Given the description of an element on the screen output the (x, y) to click on. 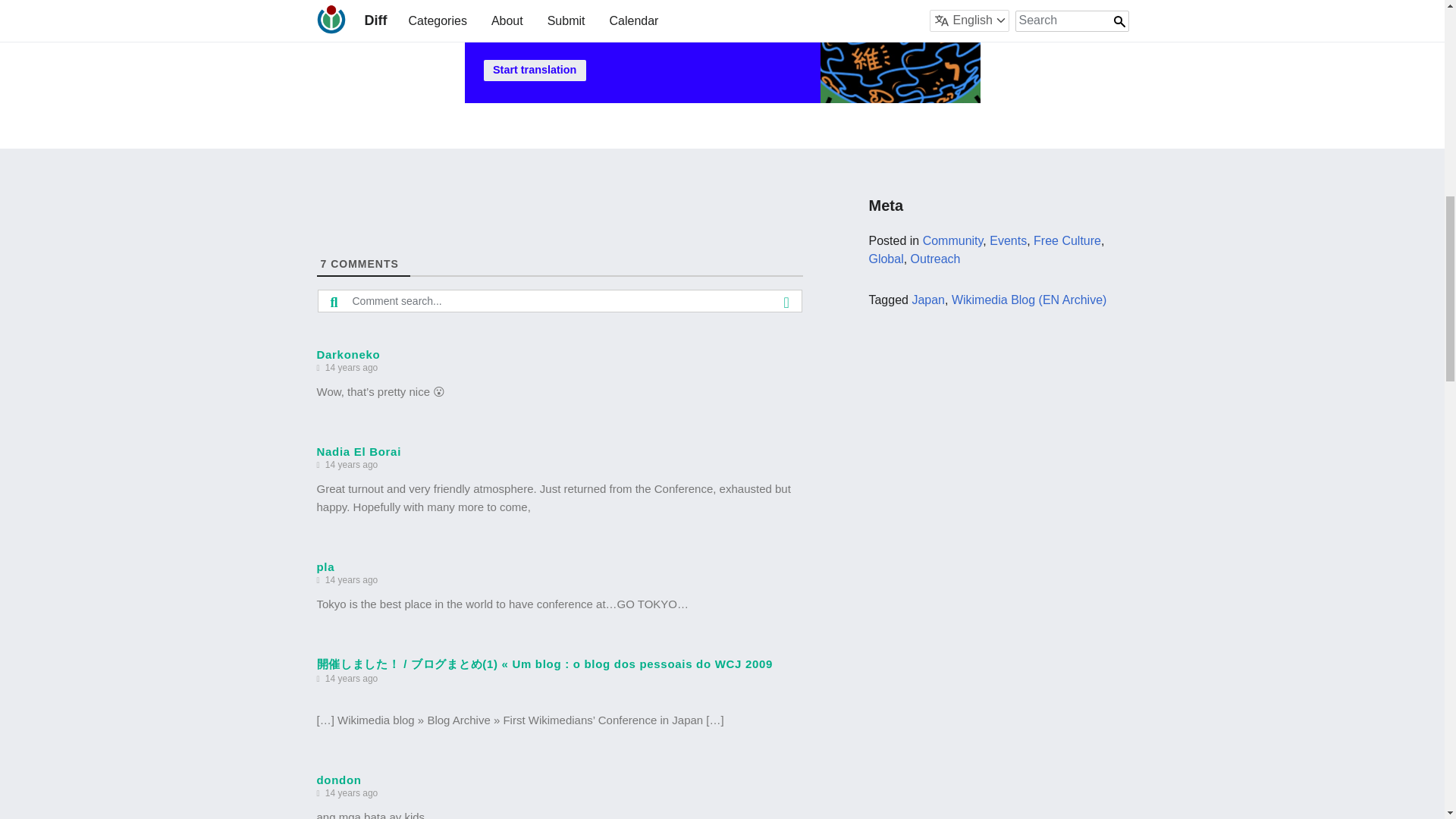
Free Culture (1066, 240)
Outreach (935, 258)
22 November 2009 15:45 (351, 368)
Japan (927, 299)
Events (1008, 240)
23 November 2009 05:30 (351, 678)
Global (884, 258)
Community (953, 240)
23 November 2009 02:42 (351, 580)
Start translation (534, 70)
22 November 2009 16:25 (351, 464)
